Given the description of an element on the screen output the (x, y) to click on. 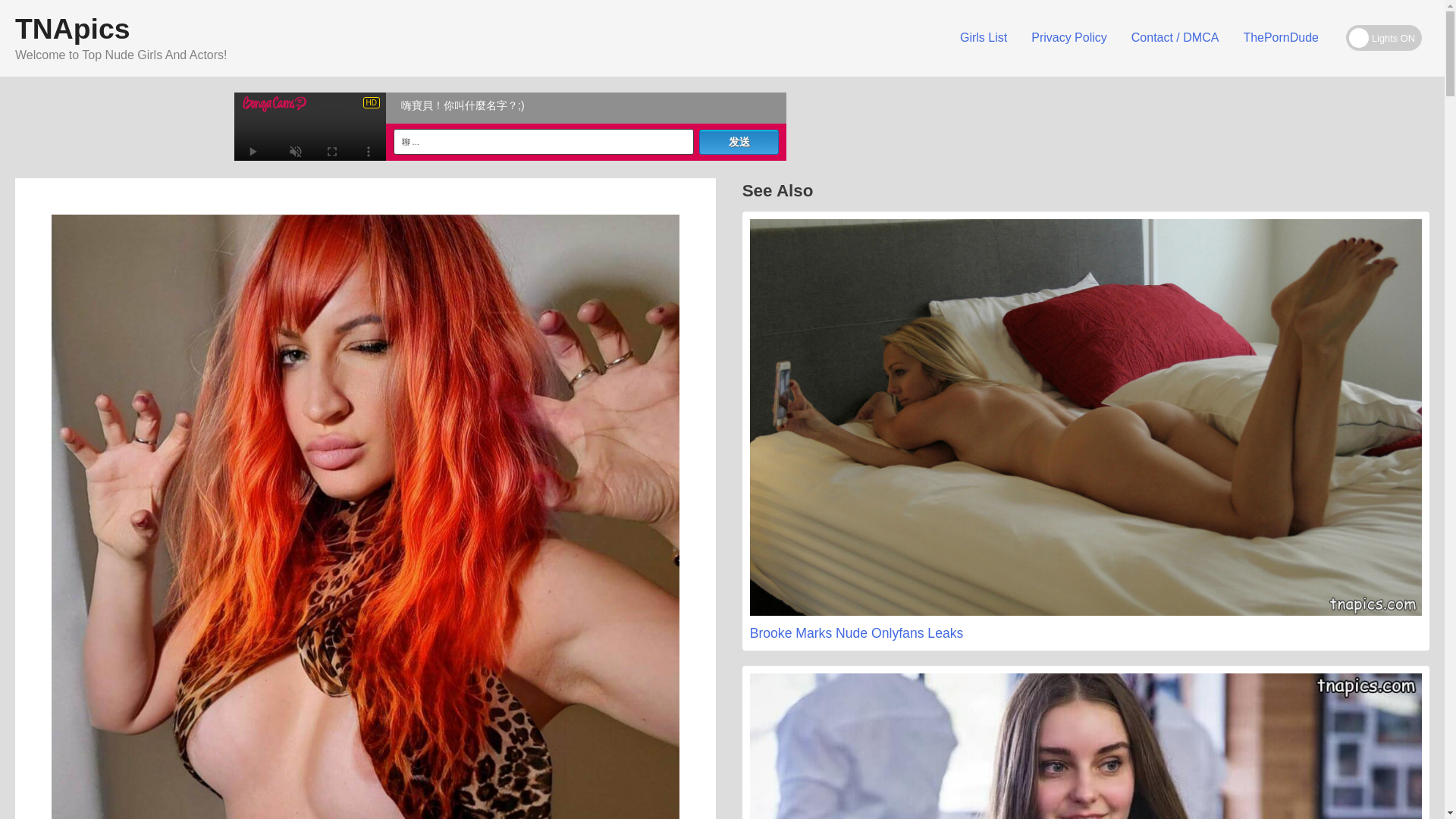
TNApics (71, 29)
Privacy Policy (1069, 37)
Girls List (983, 37)
ThePornDude (1280, 37)
